Given the description of an element on the screen output the (x, y) to click on. 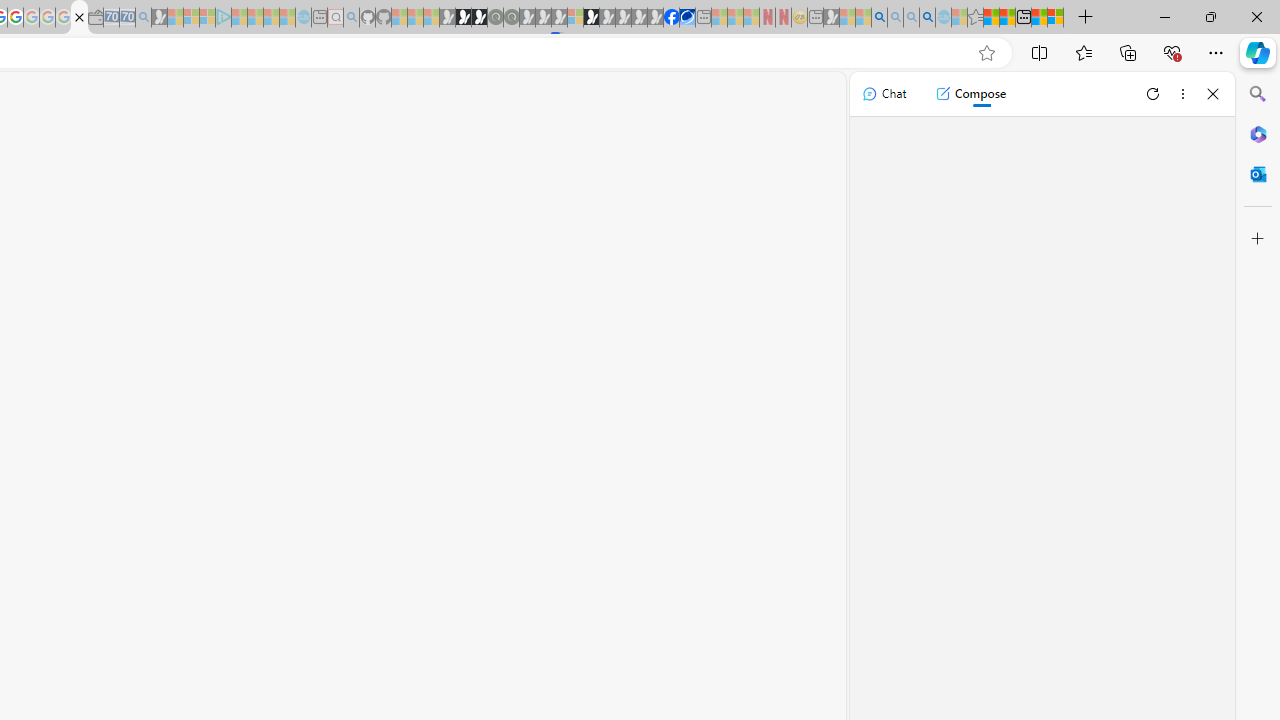
AQI & Health | AirNow.gov (687, 17)
Wallet - Sleeping (95, 17)
